Given the description of an element on the screen output the (x, y) to click on. 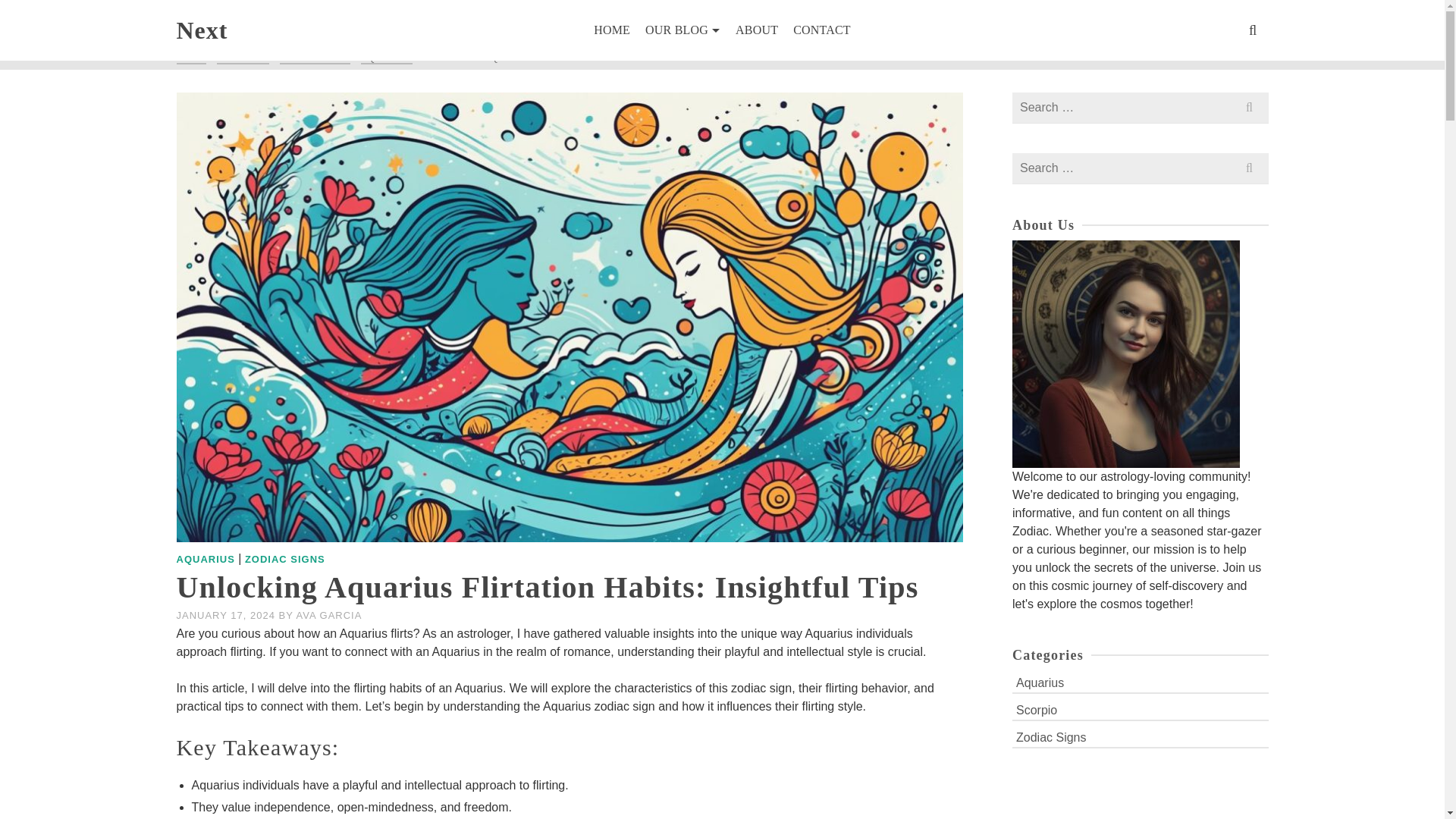
AQUARIUS (205, 559)
OUR BLOG (242, 57)
AQUARIUS (386, 57)
AVA GARCIA (329, 614)
CONTACT (822, 29)
ZODIAC SIGNS (284, 559)
HOME (190, 57)
ABOUT (757, 29)
ZODIAC SIGNS (314, 57)
HOME (611, 29)
OUR BLOG (682, 29)
